Given the description of an element on the screen output the (x, y) to click on. 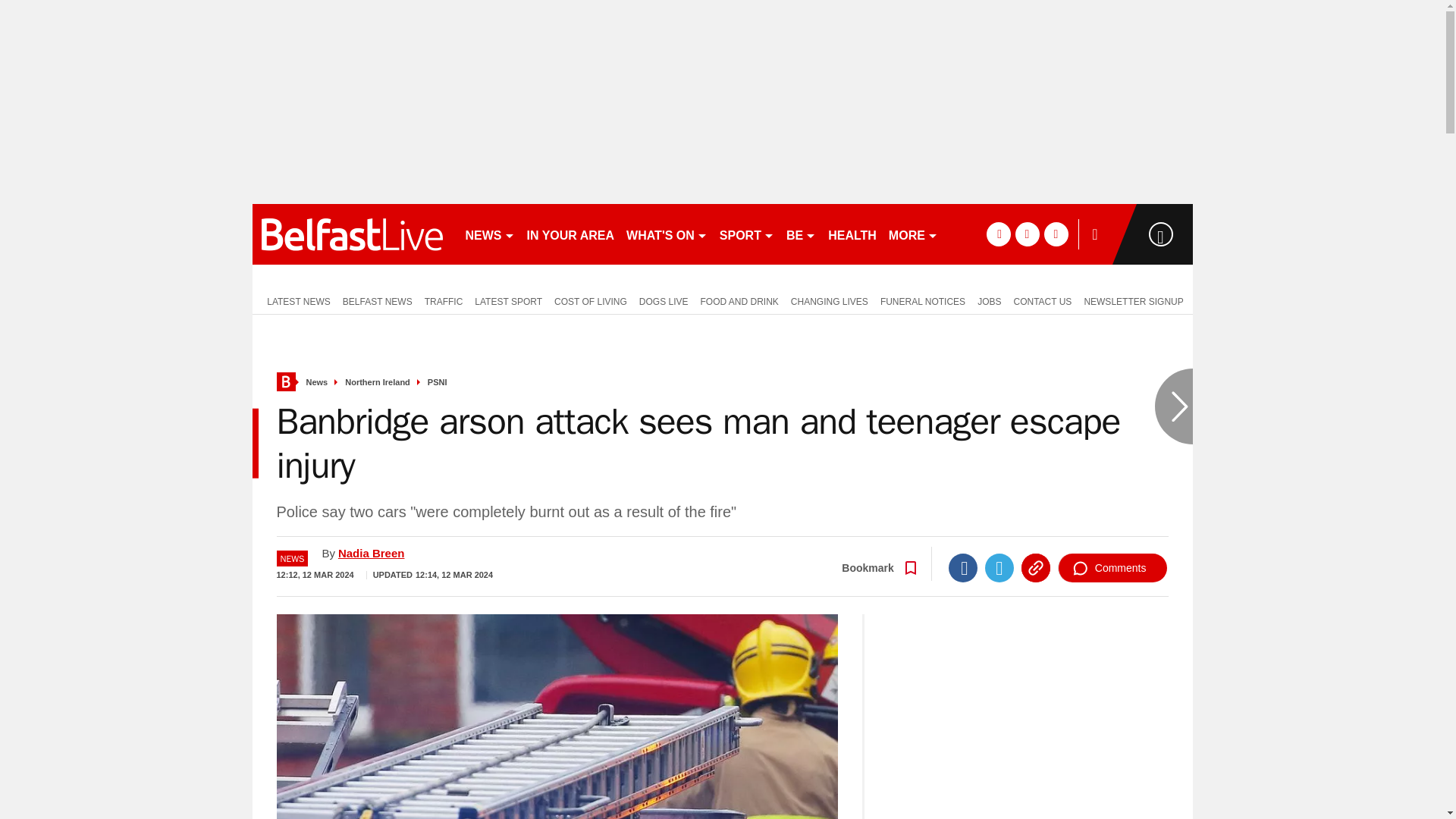
IN YOUR AREA (569, 233)
SPORT (746, 233)
twitter (1026, 233)
Comments (1112, 567)
NEWS (490, 233)
WHAT'S ON (666, 233)
Facebook (962, 567)
instagram (1055, 233)
facebook (997, 233)
Twitter (999, 567)
